Given the description of an element on the screen output the (x, y) to click on. 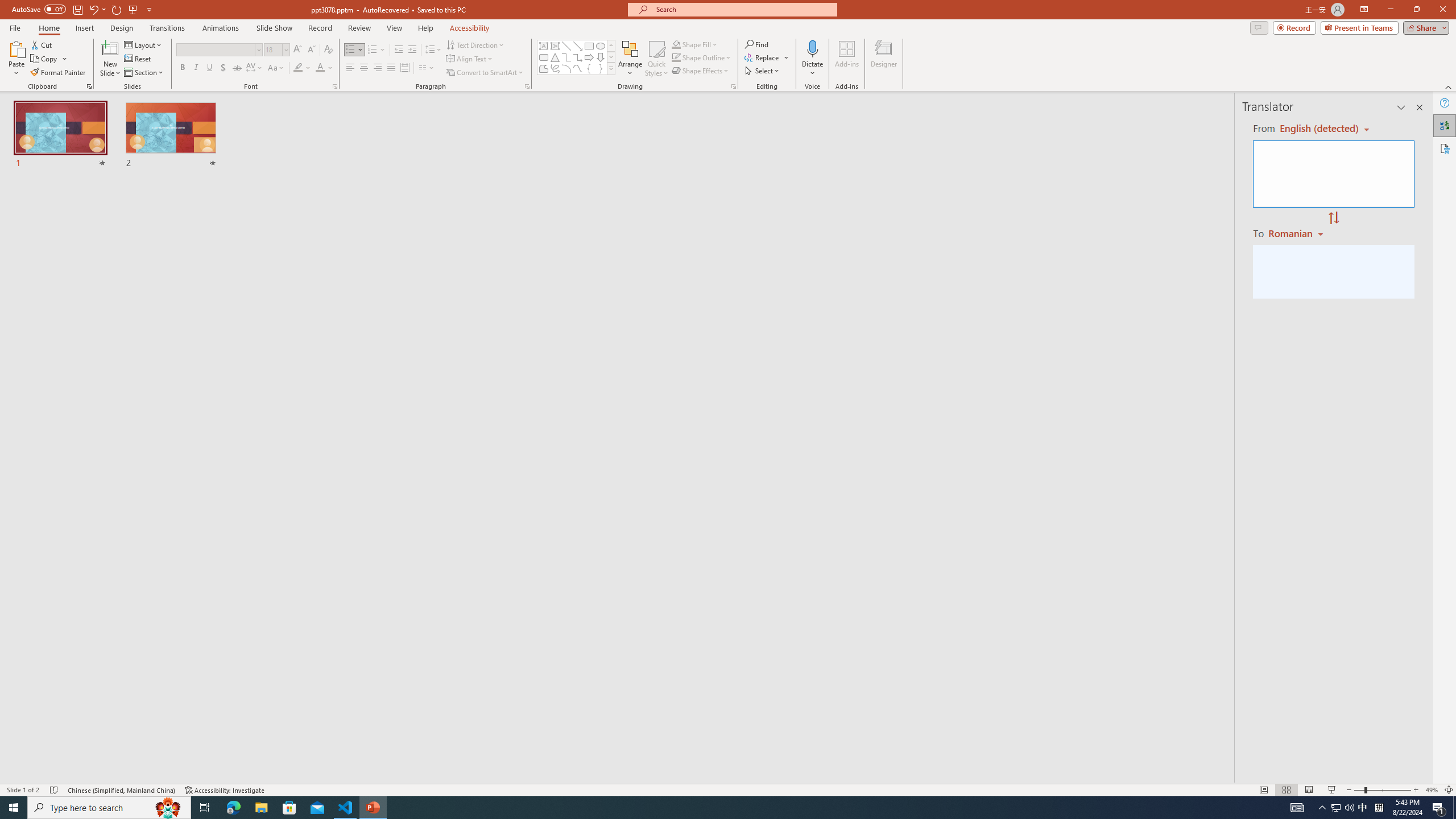
Zoom 49% (1431, 790)
Shape Effects (700, 69)
